Given the description of an element on the screen output the (x, y) to click on. 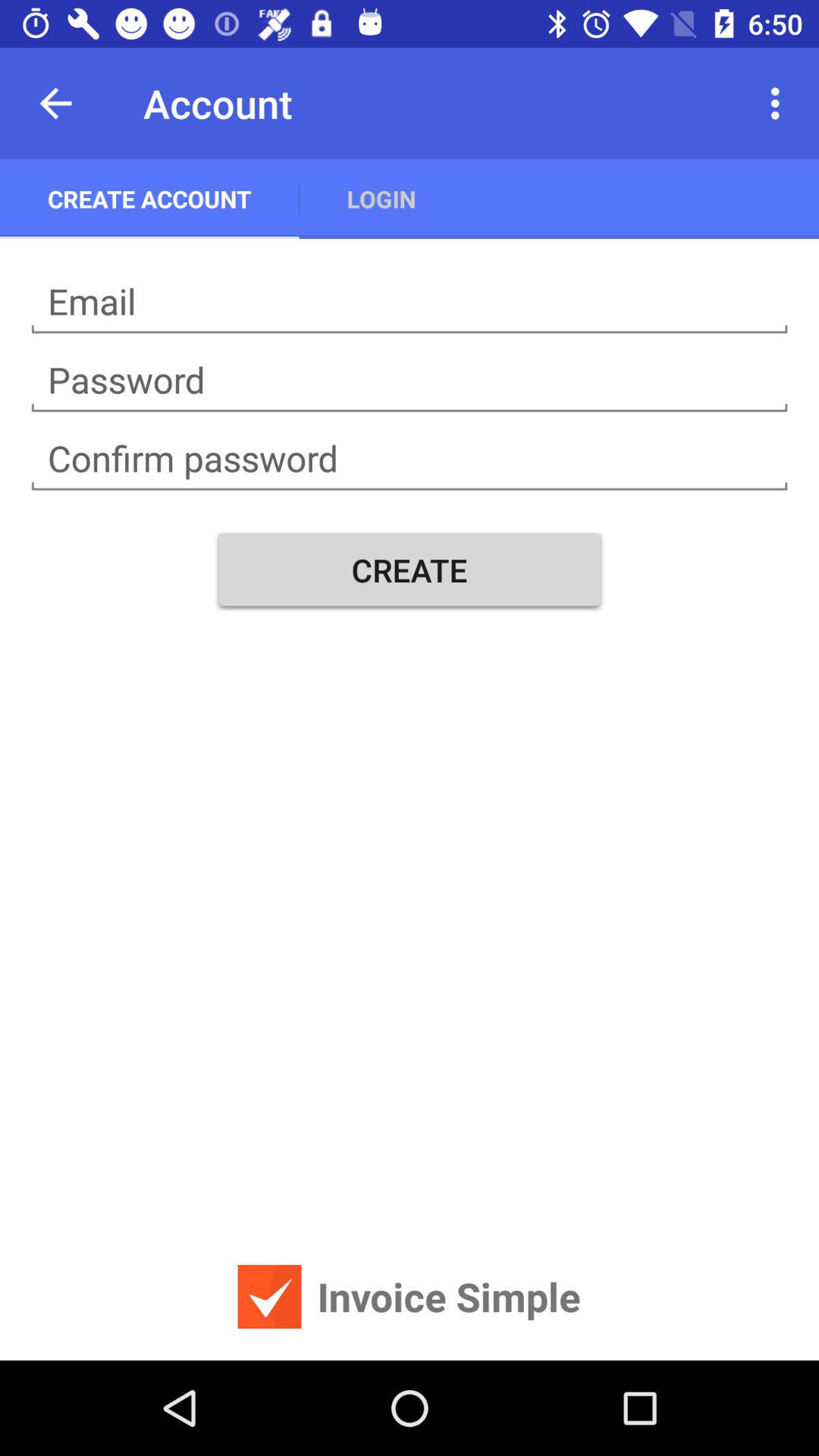
enter the password (409, 380)
